Given the description of an element on the screen output the (x, y) to click on. 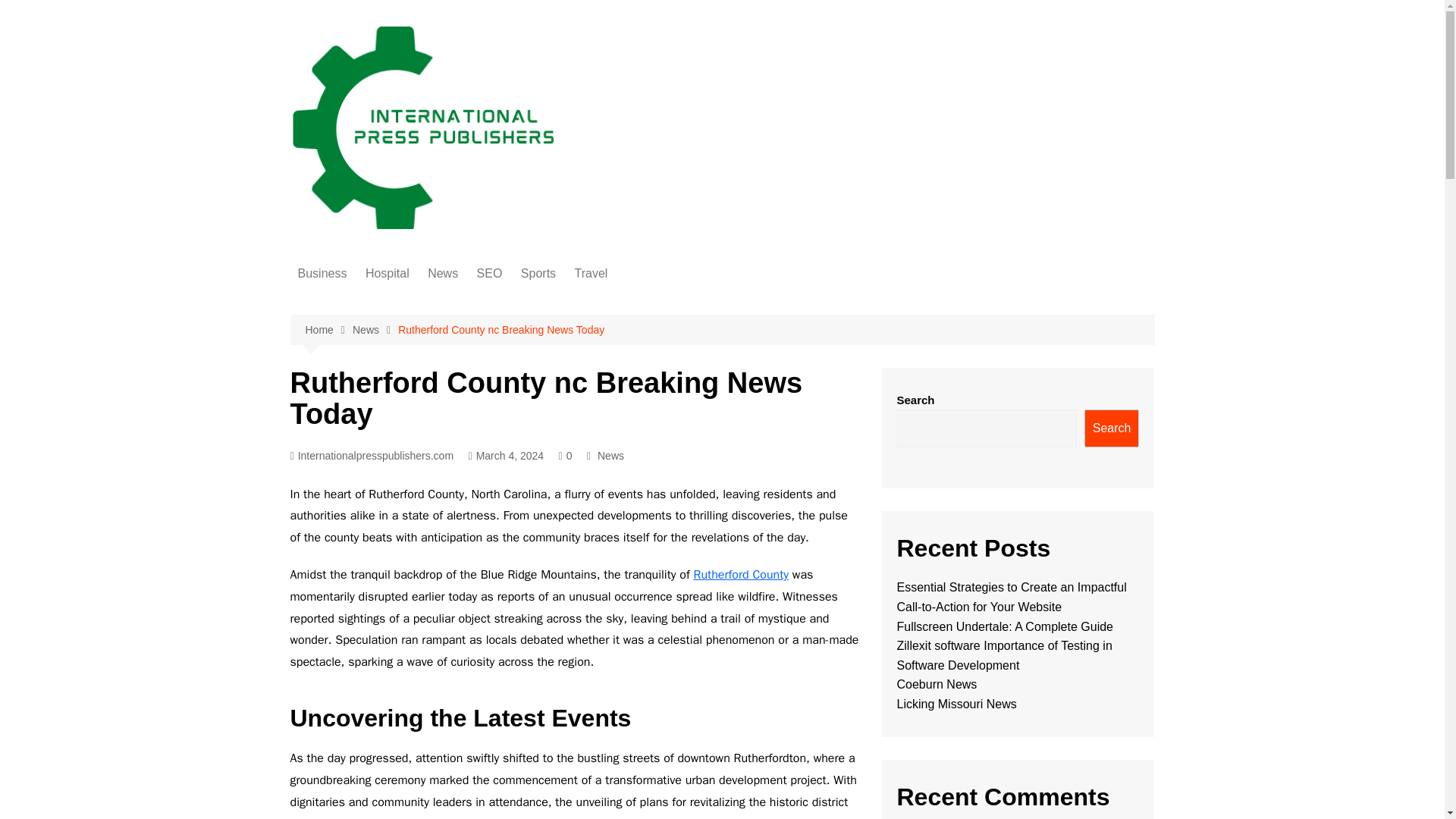
Travel (591, 273)
Business (321, 273)
SEO (489, 273)
News (374, 330)
Rutherford County (741, 574)
Home (328, 330)
Hospital (387, 273)
Internationalpresspublishers.com (370, 456)
News (442, 273)
Rutherford County nc Breaking News Today (500, 329)
